Given the description of an element on the screen output the (x, y) to click on. 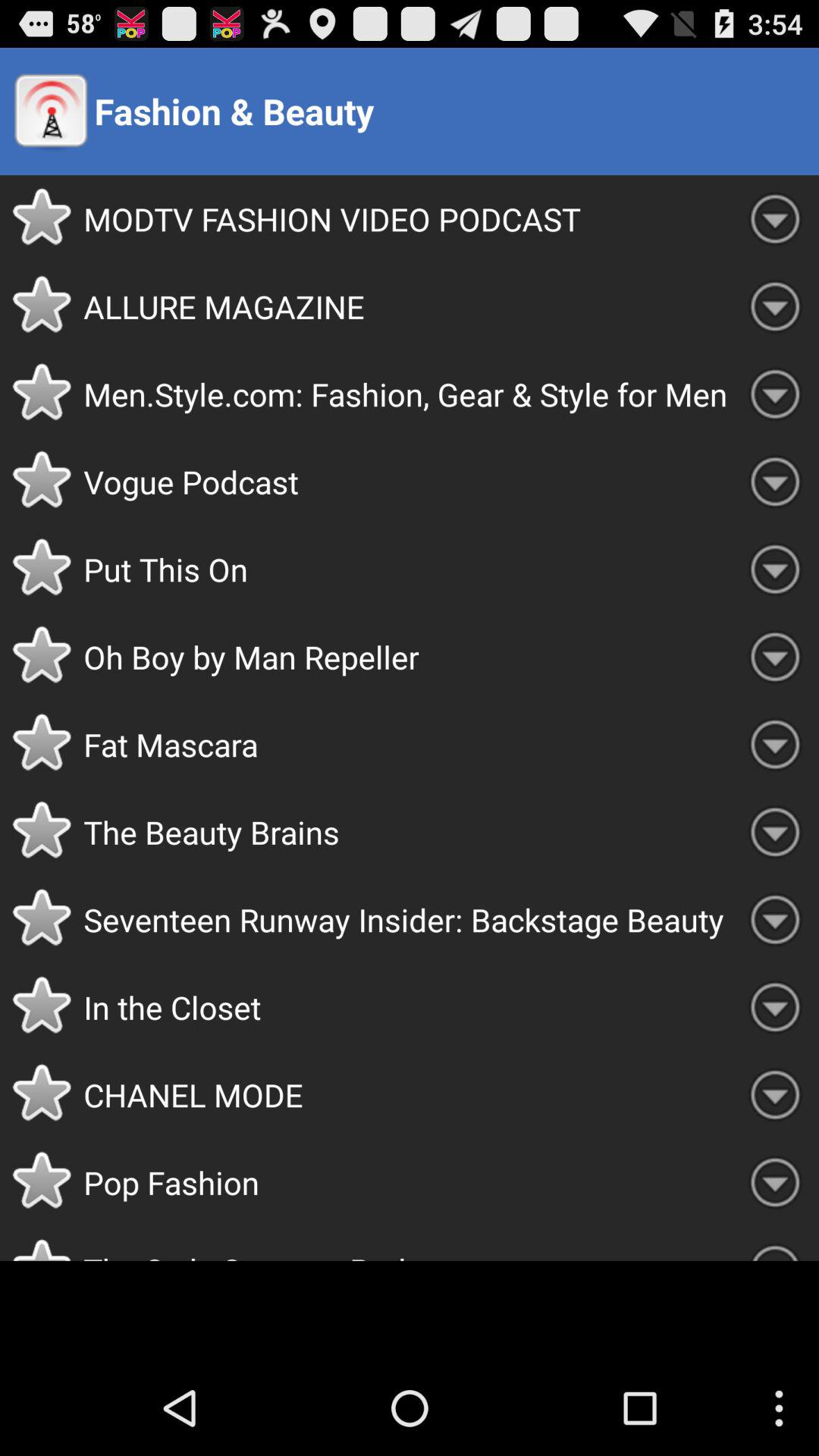
open the icon below the chanel mode app (407, 1182)
